Given the description of an element on the screen output the (x, y) to click on. 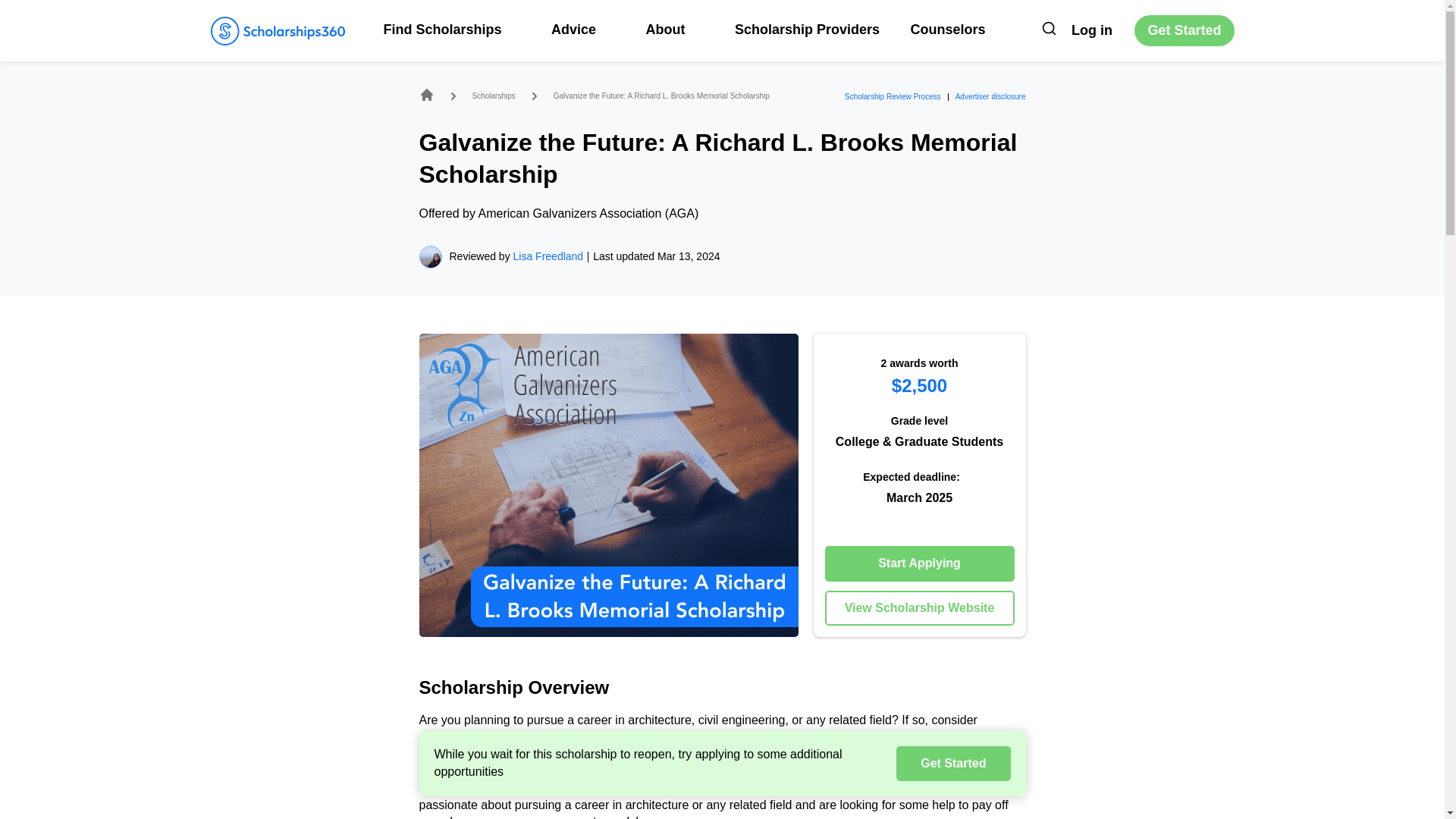
Scholarship Providers (807, 29)
Get Started (1183, 30)
Log in (1091, 30)
Counselors (947, 29)
Advice (582, 29)
About (674, 29)
Find Scholarships (452, 29)
